Given the description of an element on the screen output the (x, y) to click on. 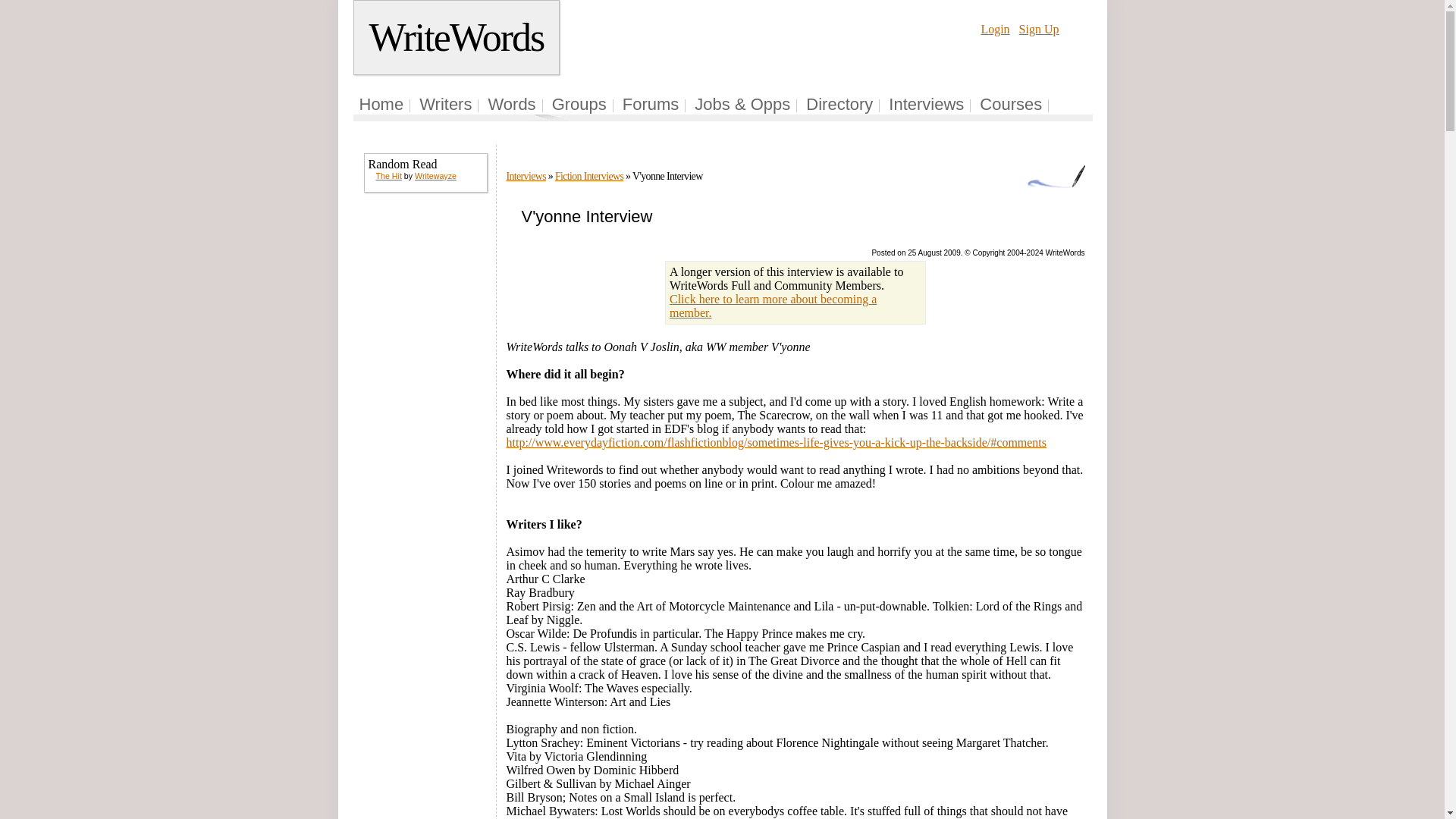
Interviews (526, 175)
Home (381, 104)
Writers (445, 104)
Sign Up (1039, 29)
Fiction Interviews (588, 175)
Interviews (925, 104)
Courses (1010, 104)
Writewayze (435, 175)
Click here to learn more about becoming a member. (772, 305)
WriteWords (456, 37)
Words (511, 104)
Forums (651, 104)
Groups (579, 104)
Directory (839, 104)
Login (994, 29)
